Given the description of an element on the screen output the (x, y) to click on. 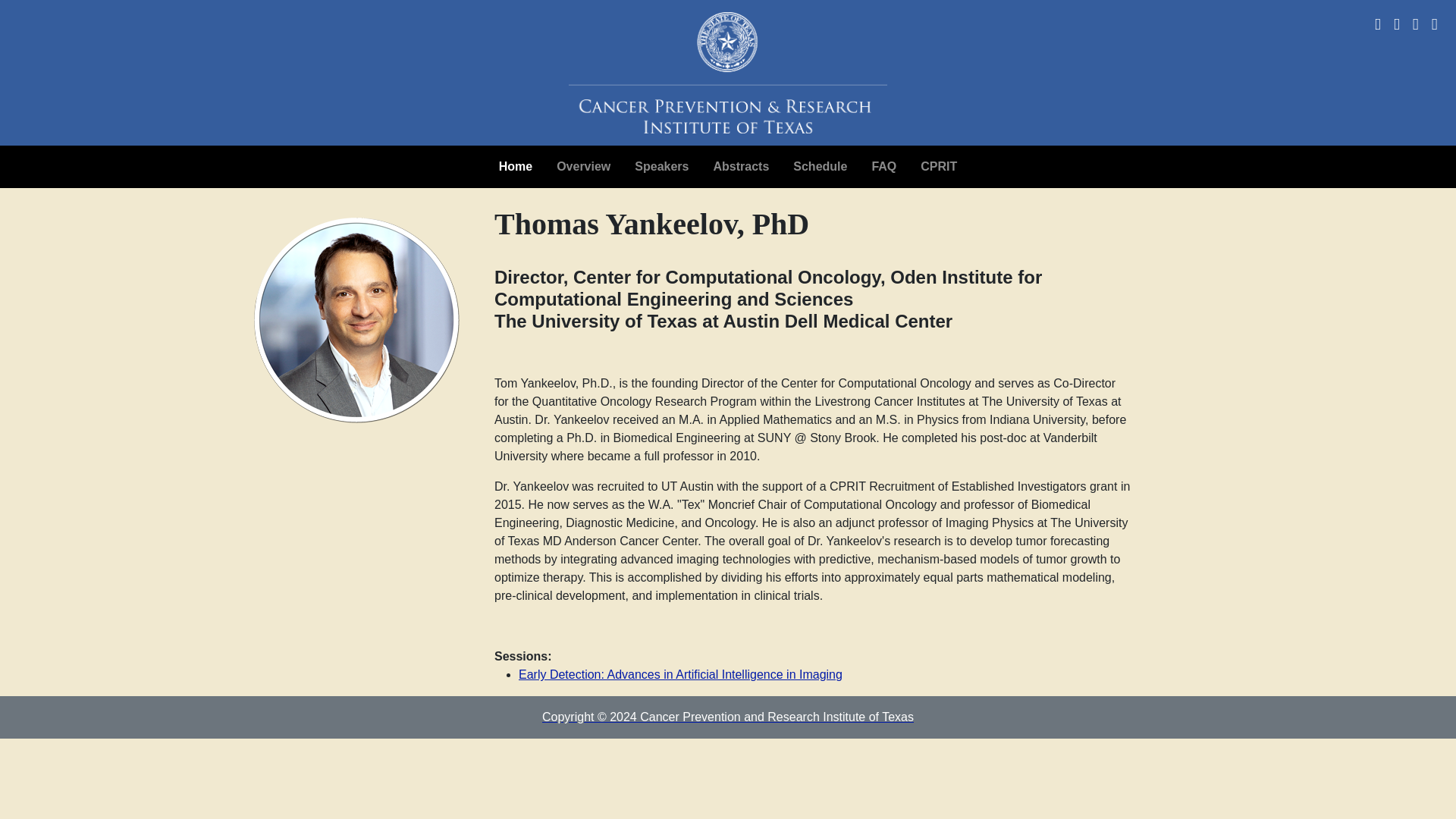
Home (515, 166)
Overview (583, 166)
Schedule (819, 166)
CPRIT (938, 166)
FAQ (883, 166)
Abstracts (740, 166)
Speakers (661, 166)
